Given the description of an element on the screen output the (x, y) to click on. 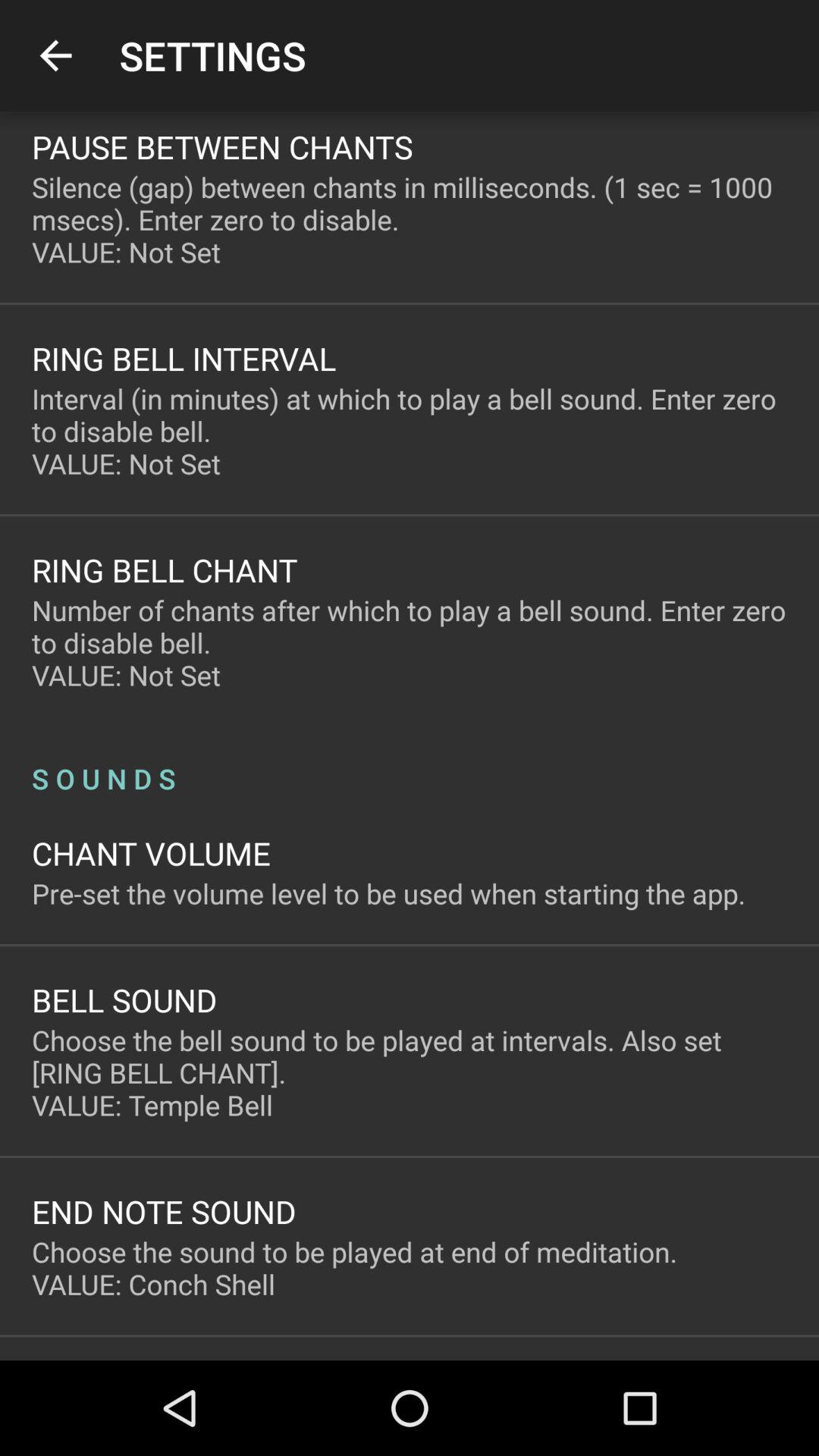
launch app to the left of the settings app (55, 55)
